Given the description of an element on the screen output the (x, y) to click on. 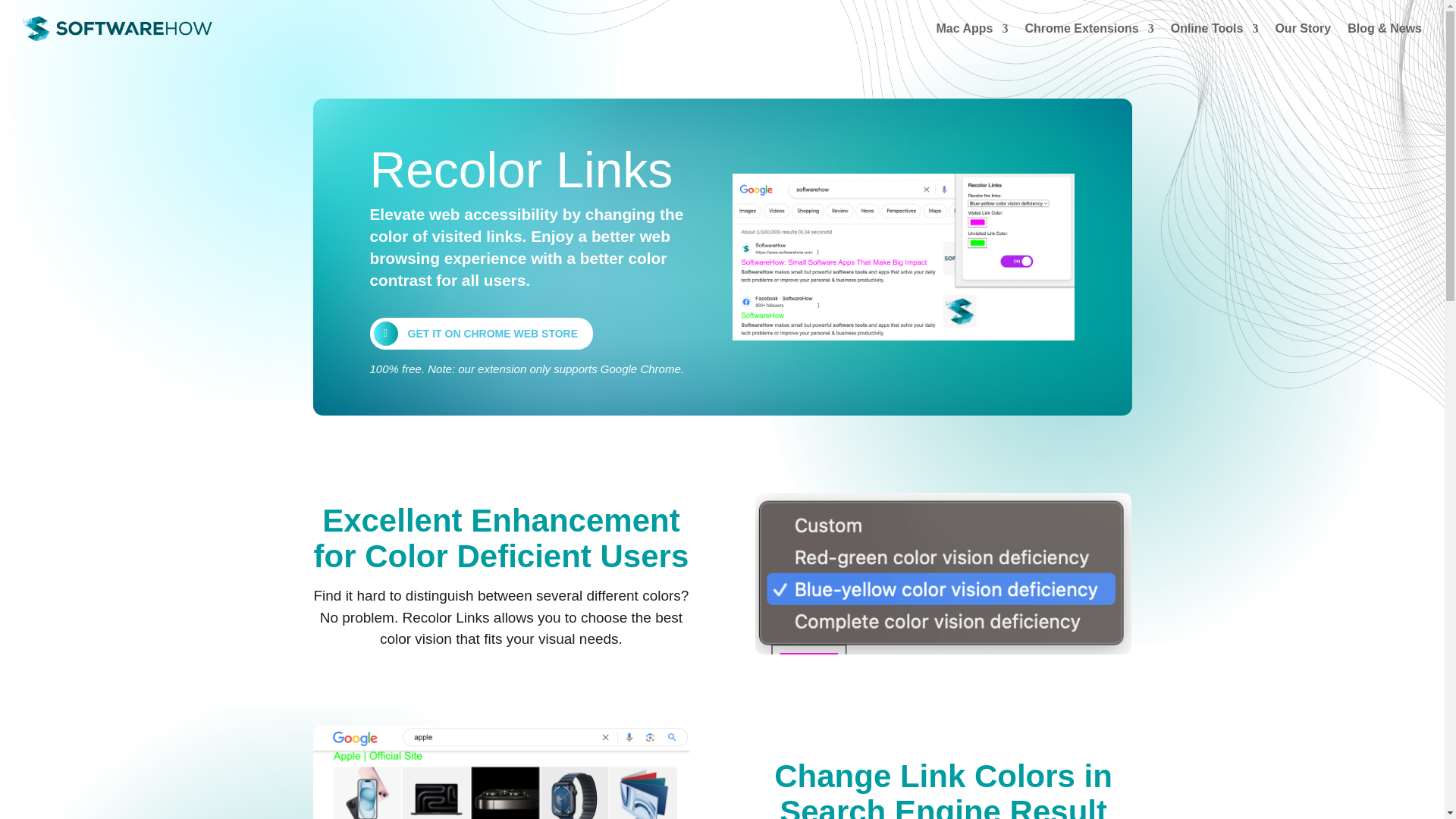
Mac Apps (971, 28)
Online Tools (1214, 28)
GET IT ON CHROME WEB STORE (481, 333)
Our Story (1302, 28)
Chrome Extensions (1089, 28)
